Given the description of an element on the screen output the (x, y) to click on. 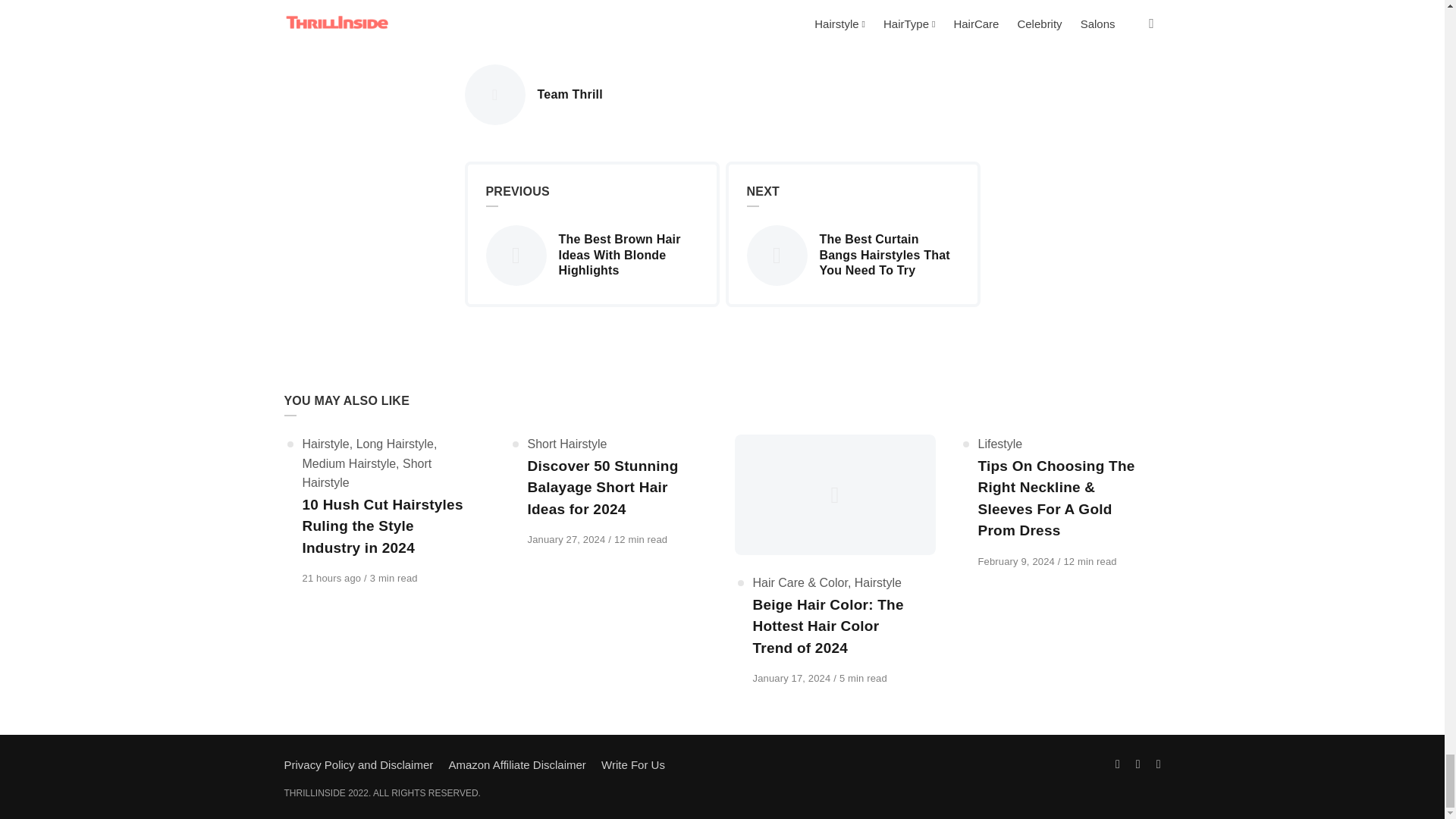
January 17, 2024 (792, 677)
February 9, 2024 (1018, 561)
April 19, 2024 (331, 577)
January 27, 2024 (567, 539)
Lifestyle (494, 12)
